Given the description of an element on the screen output the (x, y) to click on. 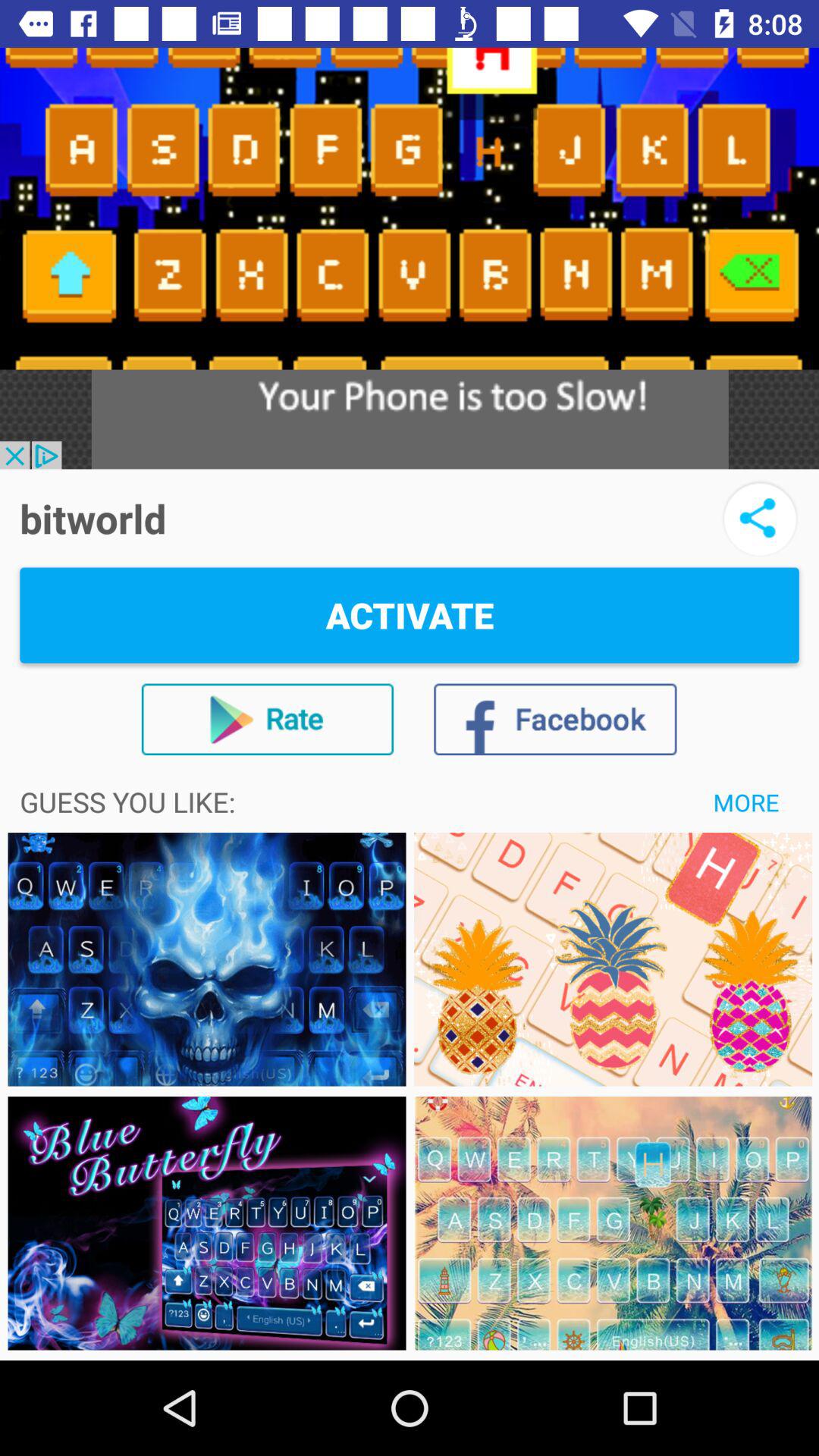
click icon to the right of the bitworld icon (760, 518)
